Given the description of an element on the screen output the (x, y) to click on. 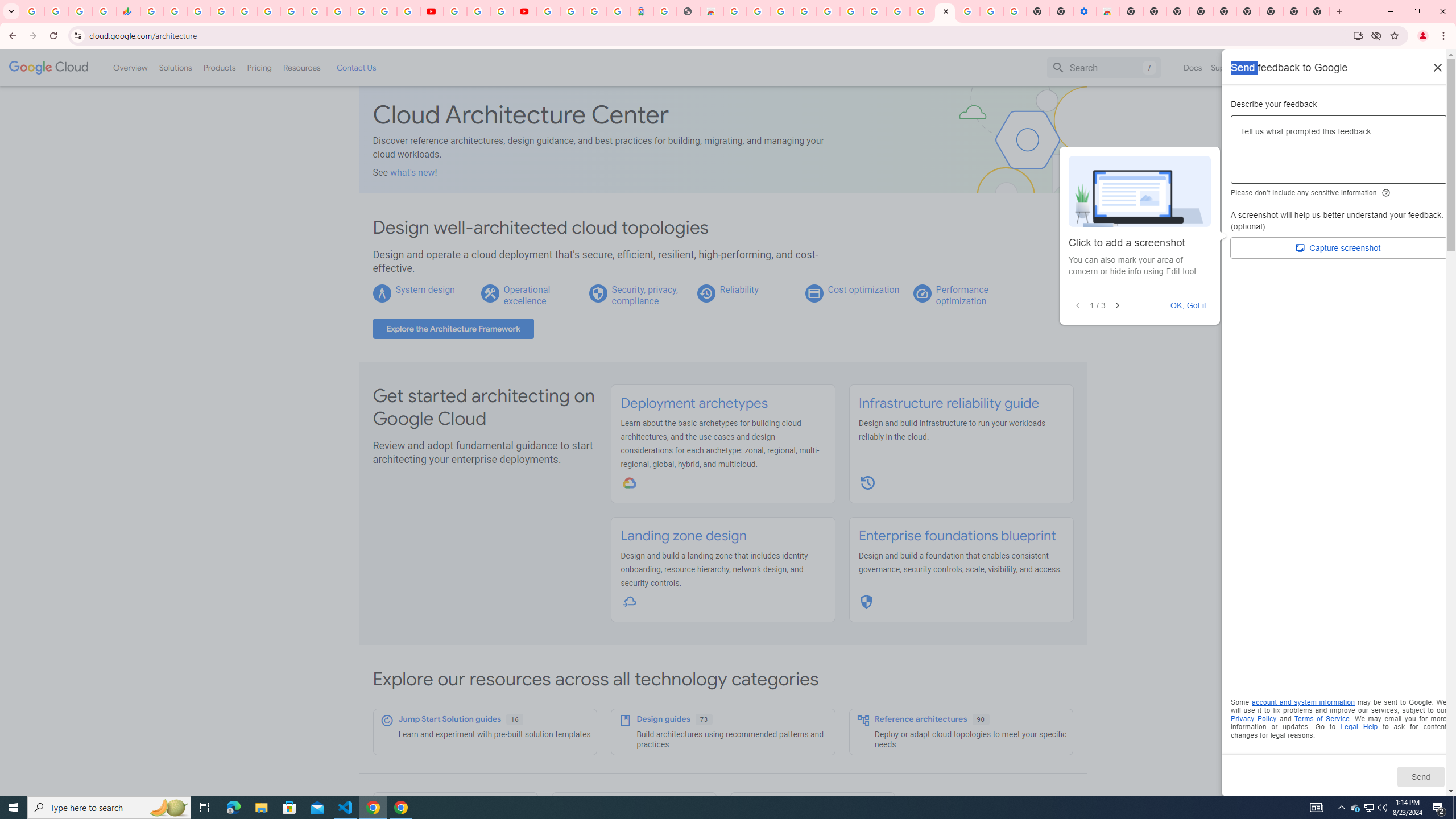
Install Google Cloud (1358, 35)
Opens in a new tab. Legal Help (1358, 727)
Start free (1405, 67)
Performance optimization (962, 295)
Solutions (175, 67)
Google Account Help (992, 11)
